Given the description of an element on the screen output the (x, y) to click on. 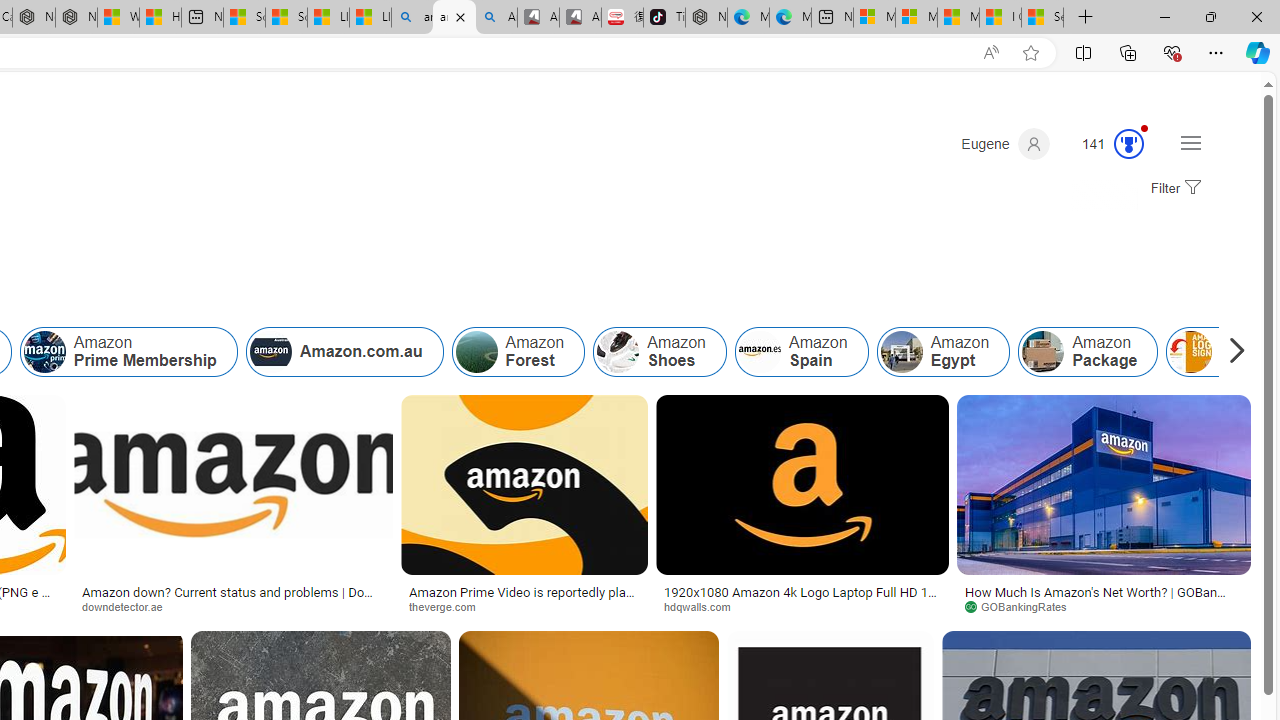
Filter (1173, 189)
Amazon Prime Membership (128, 351)
